Given the description of an element on the screen output the (x, y) to click on. 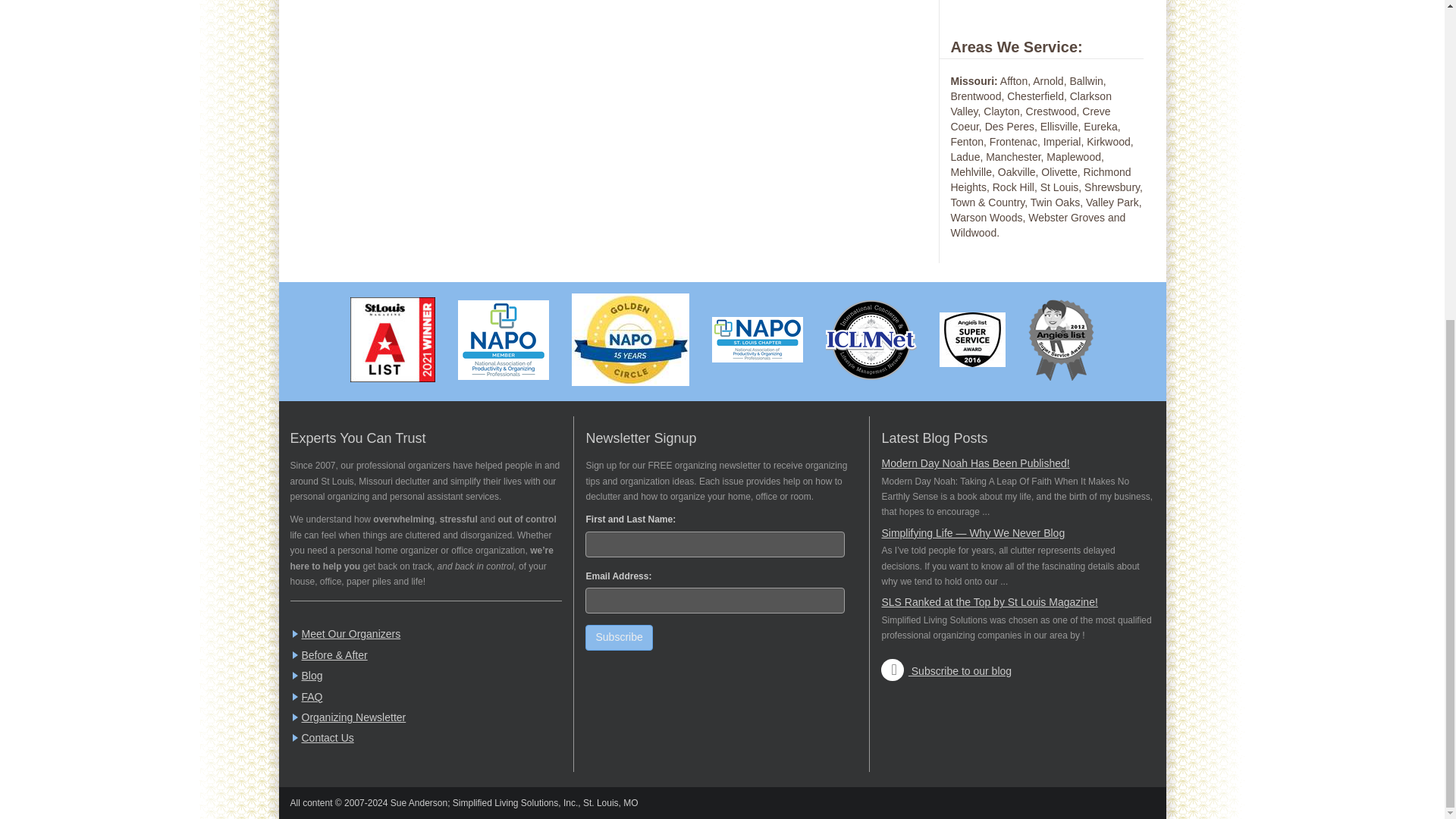
Meet Our Organizers (351, 633)
FAQ (312, 696)
Organizing Newsletter (353, 717)
Subscribe to our blog (945, 671)
NAPO St Louis (756, 339)
NAPO Golden Circle (630, 339)
Contact Us (327, 737)
Modern Day Noah Has Been Published! (974, 463)
SLS Ranked at the Top by St Louis Magazine! (988, 602)
NAPO National (503, 340)
Subscribe (618, 637)
Blog (312, 675)
